Given the description of an element on the screen output the (x, y) to click on. 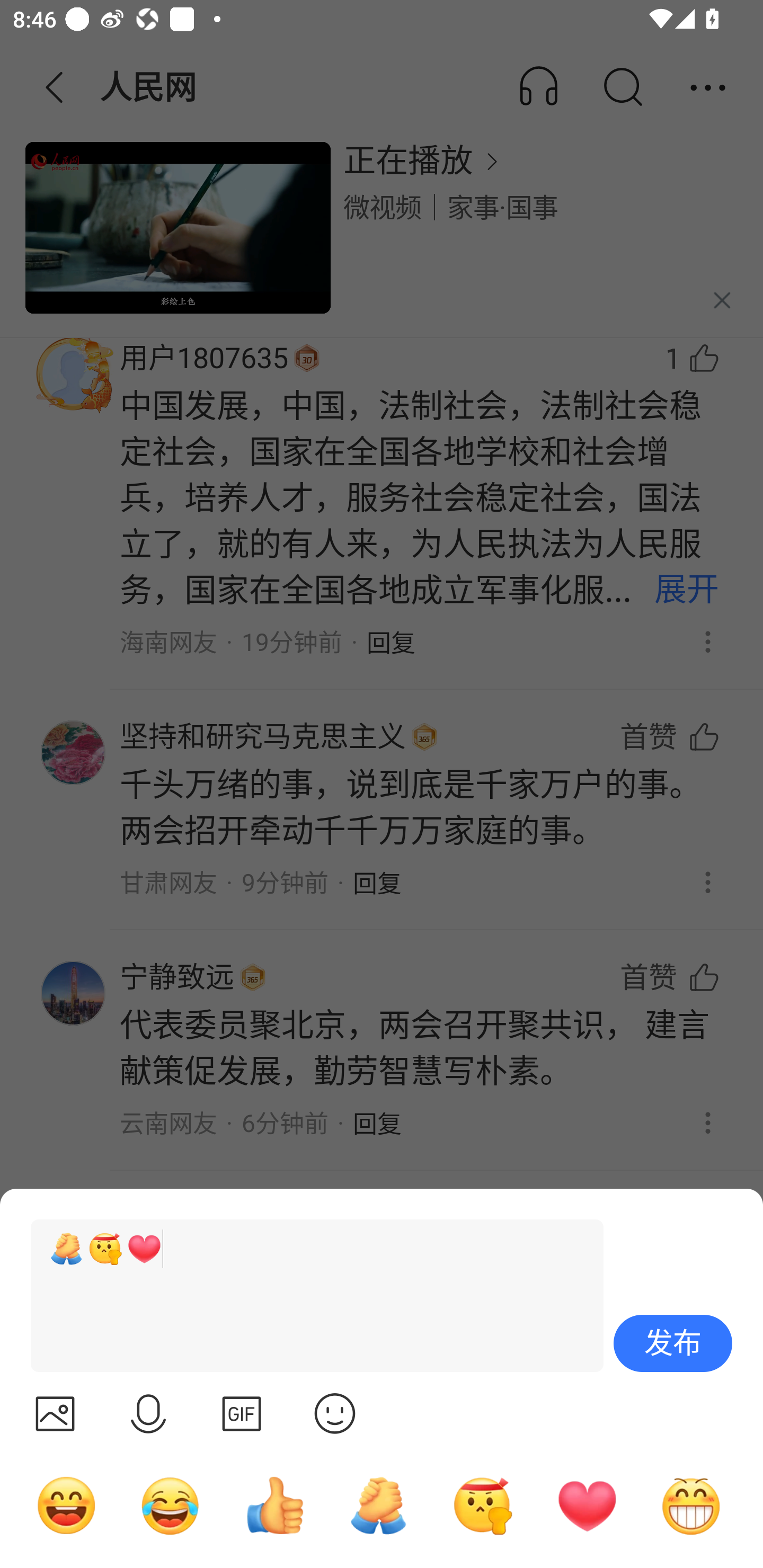
[加油][奋斗][心] (308, 1295)
发布 (672, 1343)
 (54, 1413)
 (148, 1413)
 (241, 1413)
 (334, 1413)
哈哈 (66, 1505)
哭笑 (170, 1505)
点赞 (274, 1505)
加油 (378, 1505)
奋斗 (482, 1505)
心 (586, 1505)
呲牙 (690, 1505)
